Given the description of an element on the screen output the (x, y) to click on. 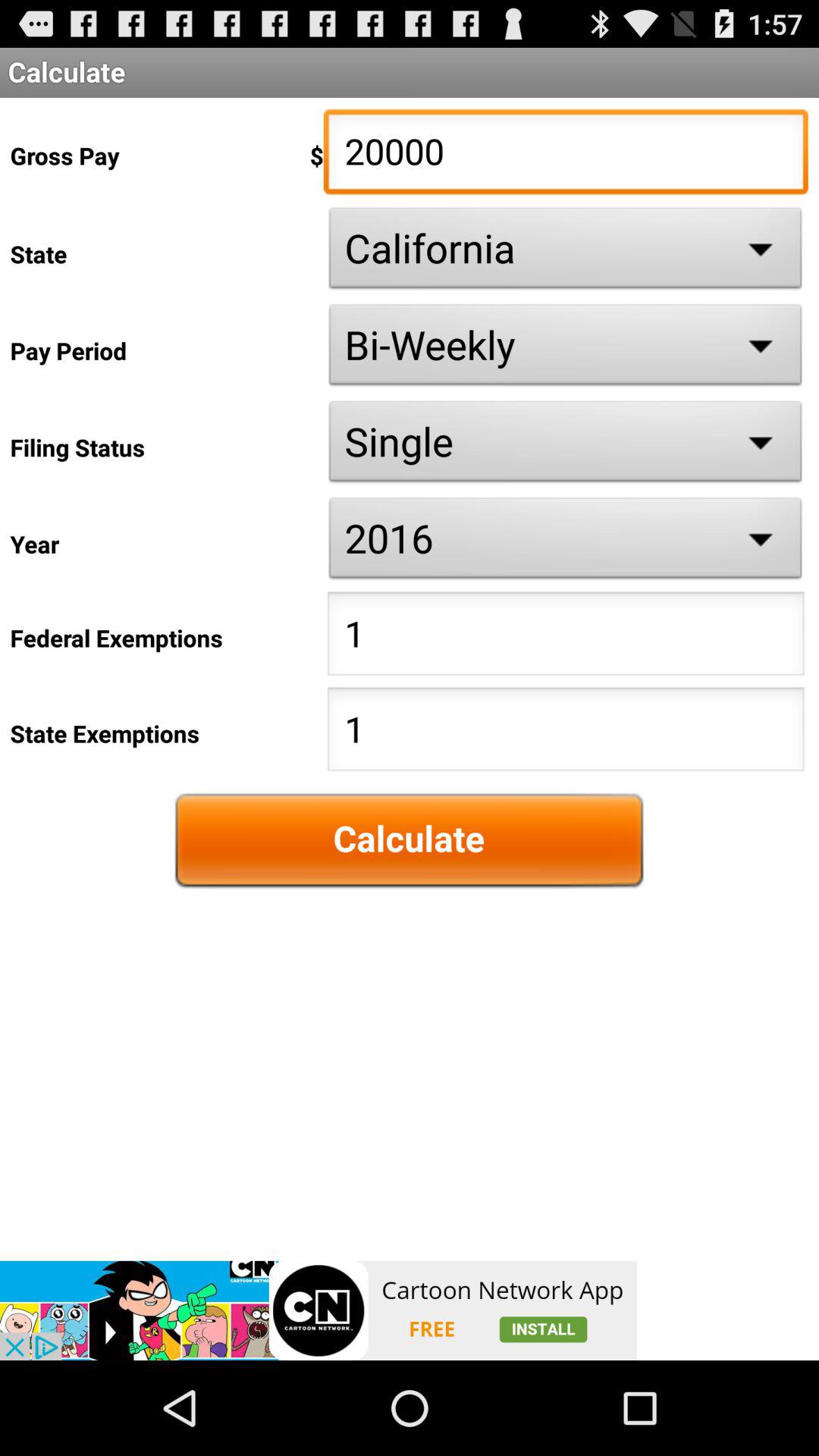
interact with advertisement (318, 1310)
